Given the description of an element on the screen output the (x, y) to click on. 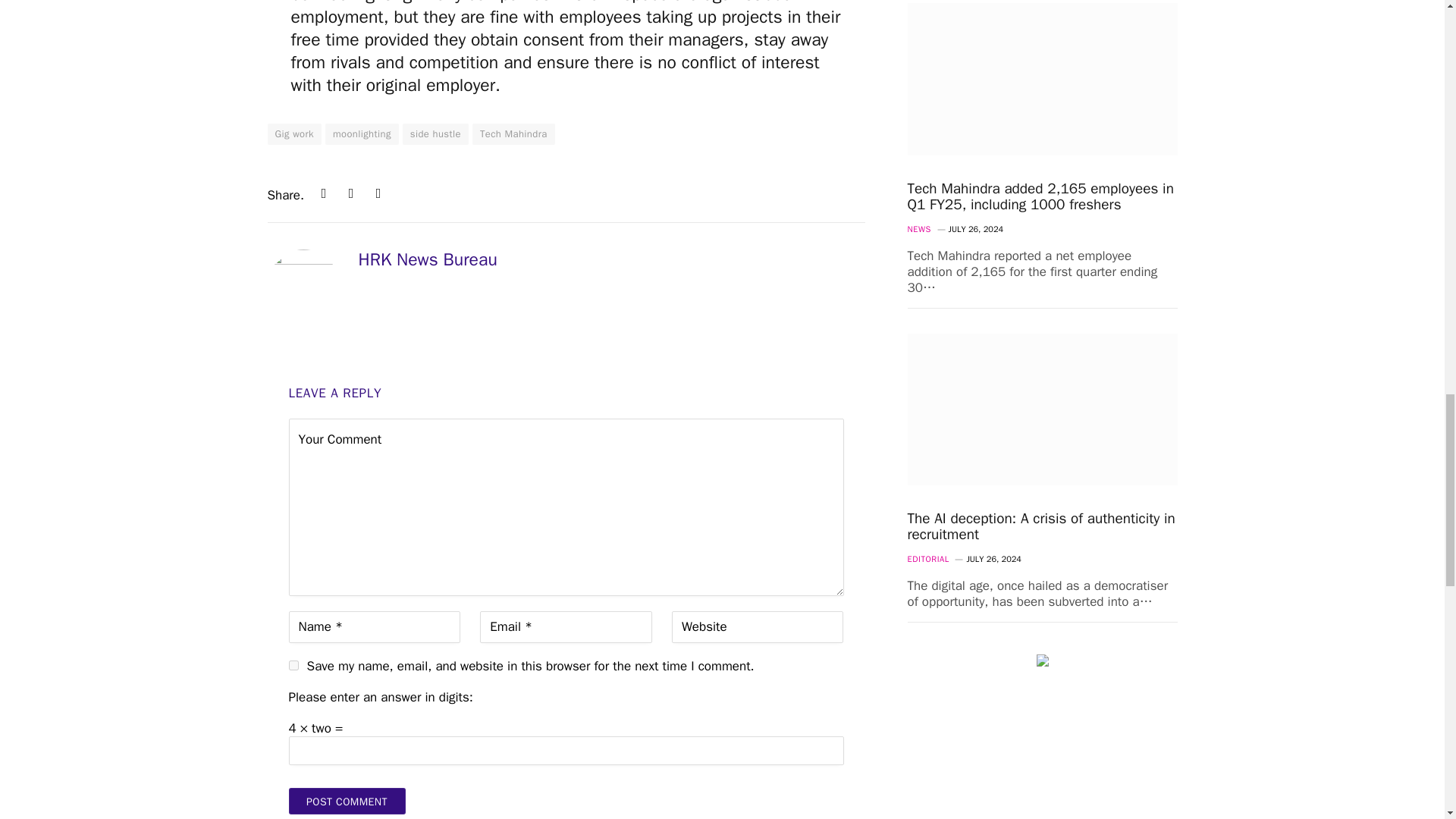
Share on LinkedIn (323, 192)
Post Comment (346, 800)
yes (293, 665)
